Given the description of an element on the screen output the (x, y) to click on. 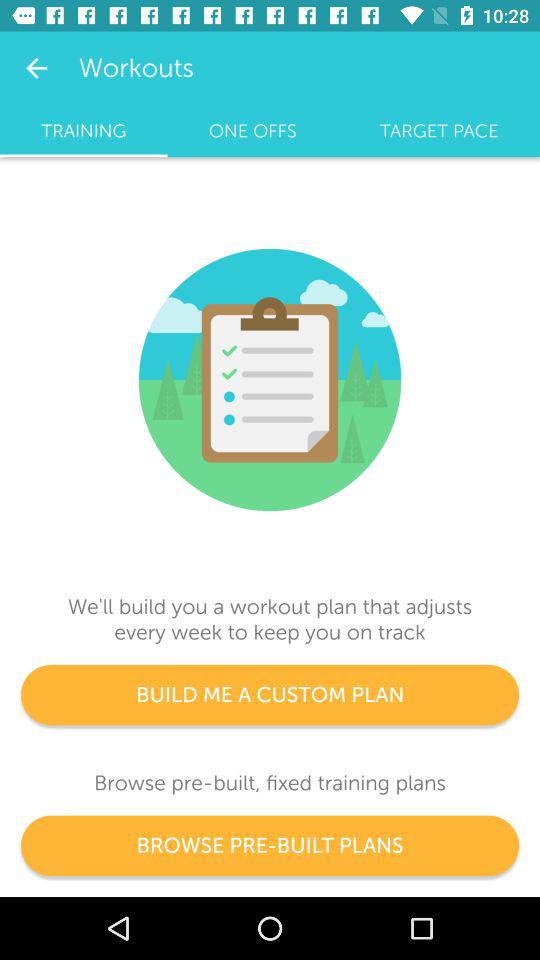
click icon next to the one offs (439, 131)
